Given the description of an element on the screen output the (x, y) to click on. 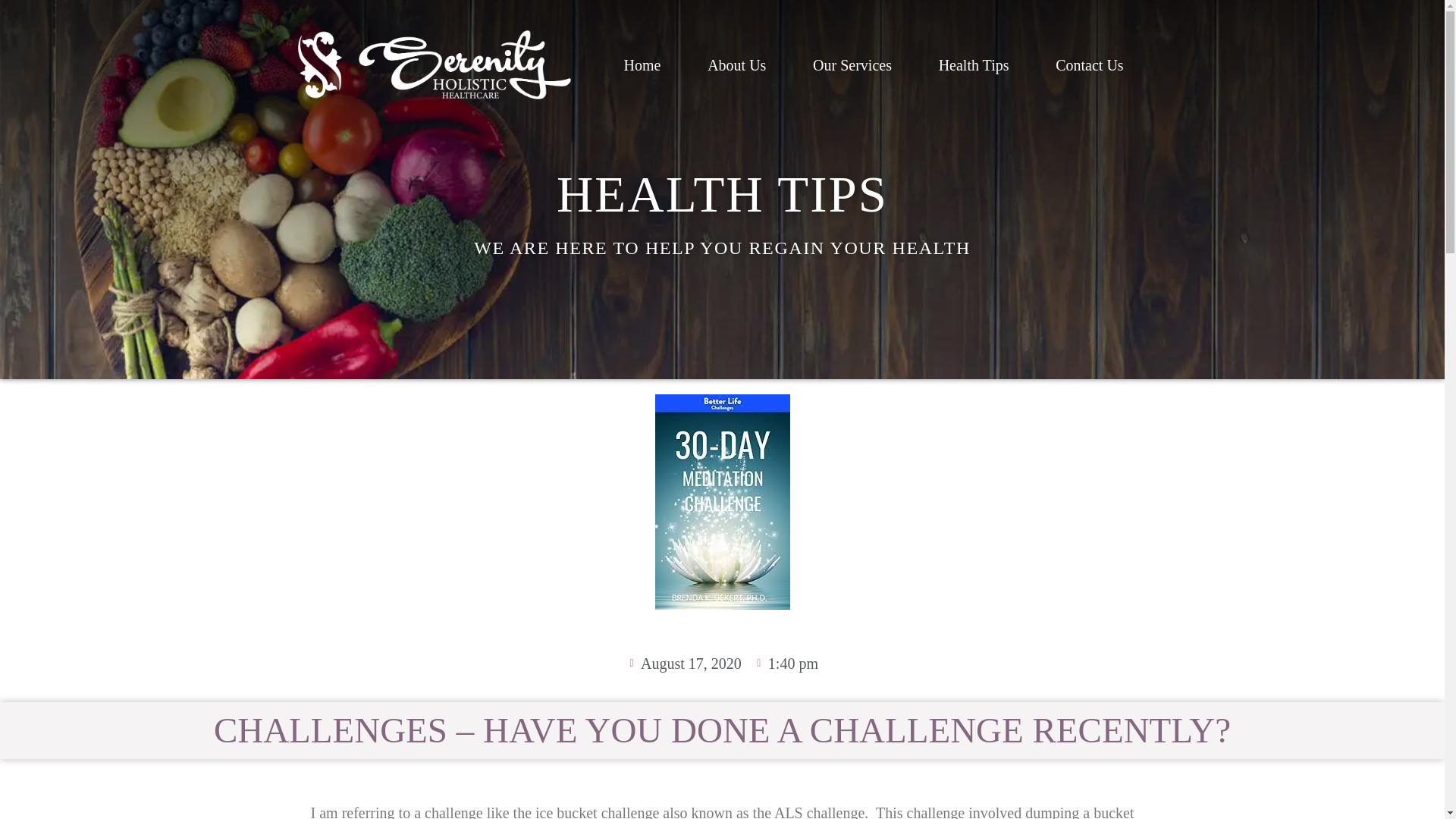
Health Tips (973, 64)
Our Services (852, 64)
Home (641, 64)
August 17, 2020 (683, 663)
About Us (736, 64)
Contact Us (1089, 64)
